Given the description of an element on the screen output the (x, y) to click on. 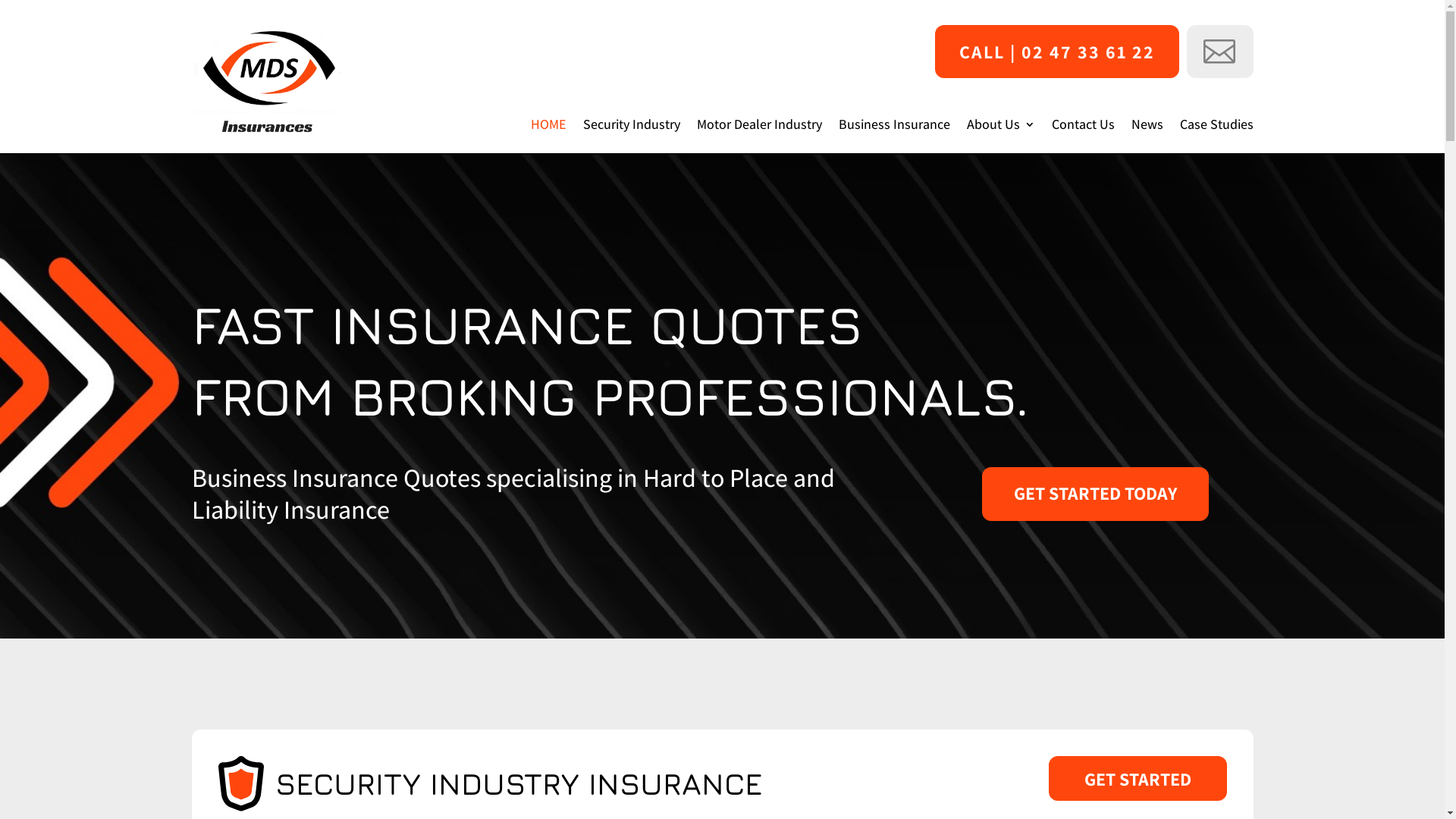
MDS Insurances logo Element type: hover (266, 85)
Contact Us Element type: text (1082, 127)
Business Insurance Element type: text (894, 127)
Case Studies Element type: text (1216, 127)
Security Industry Element type: text (630, 127)
HOME Element type: text (548, 127)
GET STARTED TODAY Element type: text (1095, 493)
About Us Element type: text (1000, 127)
GET STARTED Element type: text (1137, 778)
Motor Dealer Industry Element type: text (758, 127)
News Element type: text (1147, 127)
CALL | 02 47 33 61 22 Element type: text (1056, 51)
